Given the description of an element on the screen output the (x, y) to click on. 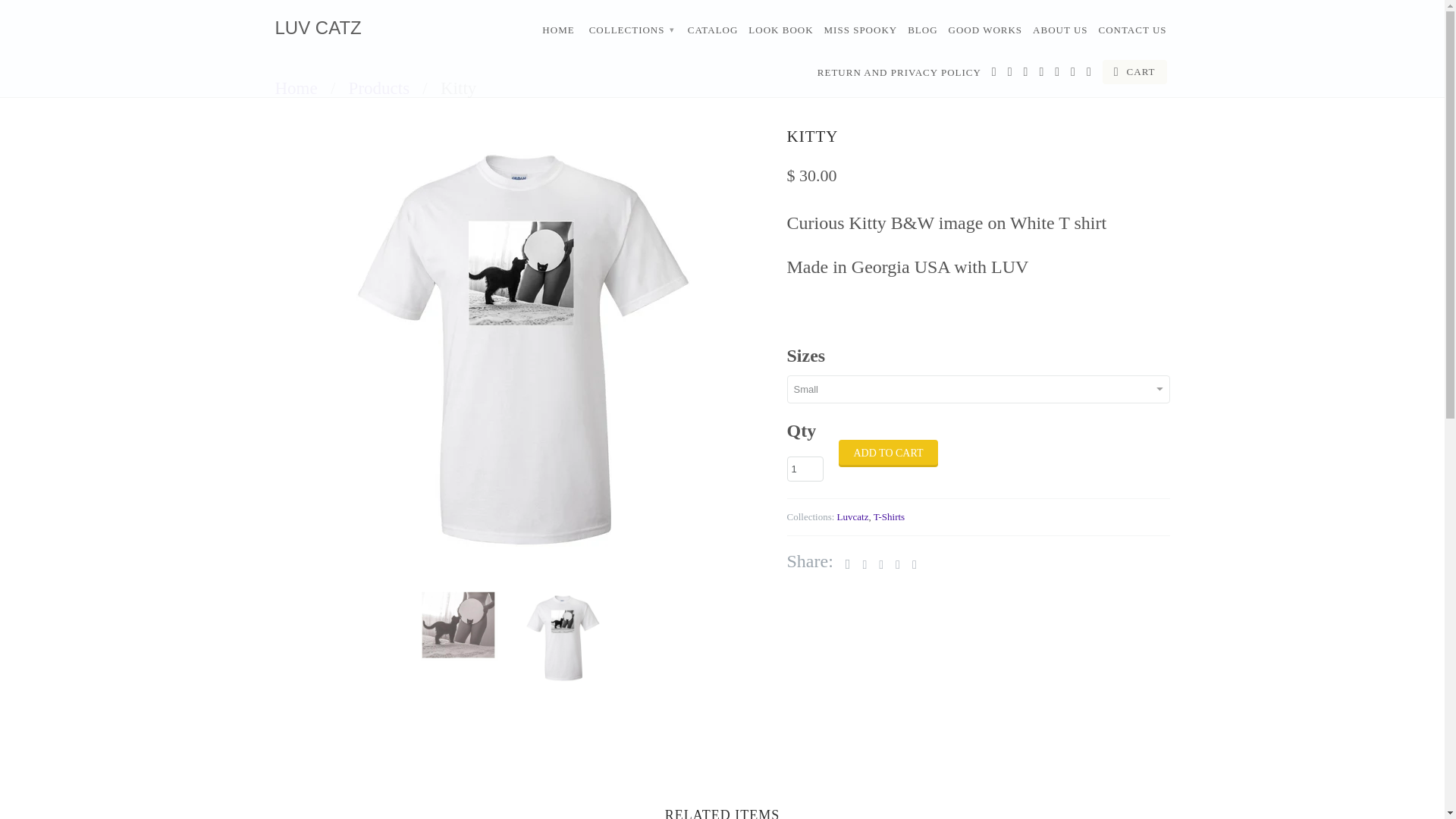
CATALOG (712, 33)
MISS SPOOKY (861, 33)
LUV CATZ (380, 27)
Search (1089, 75)
HOME (557, 33)
GOOD WORKS (986, 33)
LUV CATZ on Facebook (994, 75)
Share this on Twitter (844, 563)
LUV CATZ (380, 27)
LUV CATZ on Instagram (1056, 75)
LUV CATZ (296, 87)
Share this on Facebook (860, 563)
BLOG (922, 33)
LUV CATZ on Pinterest (1026, 75)
